Given the description of an element on the screen output the (x, y) to click on. 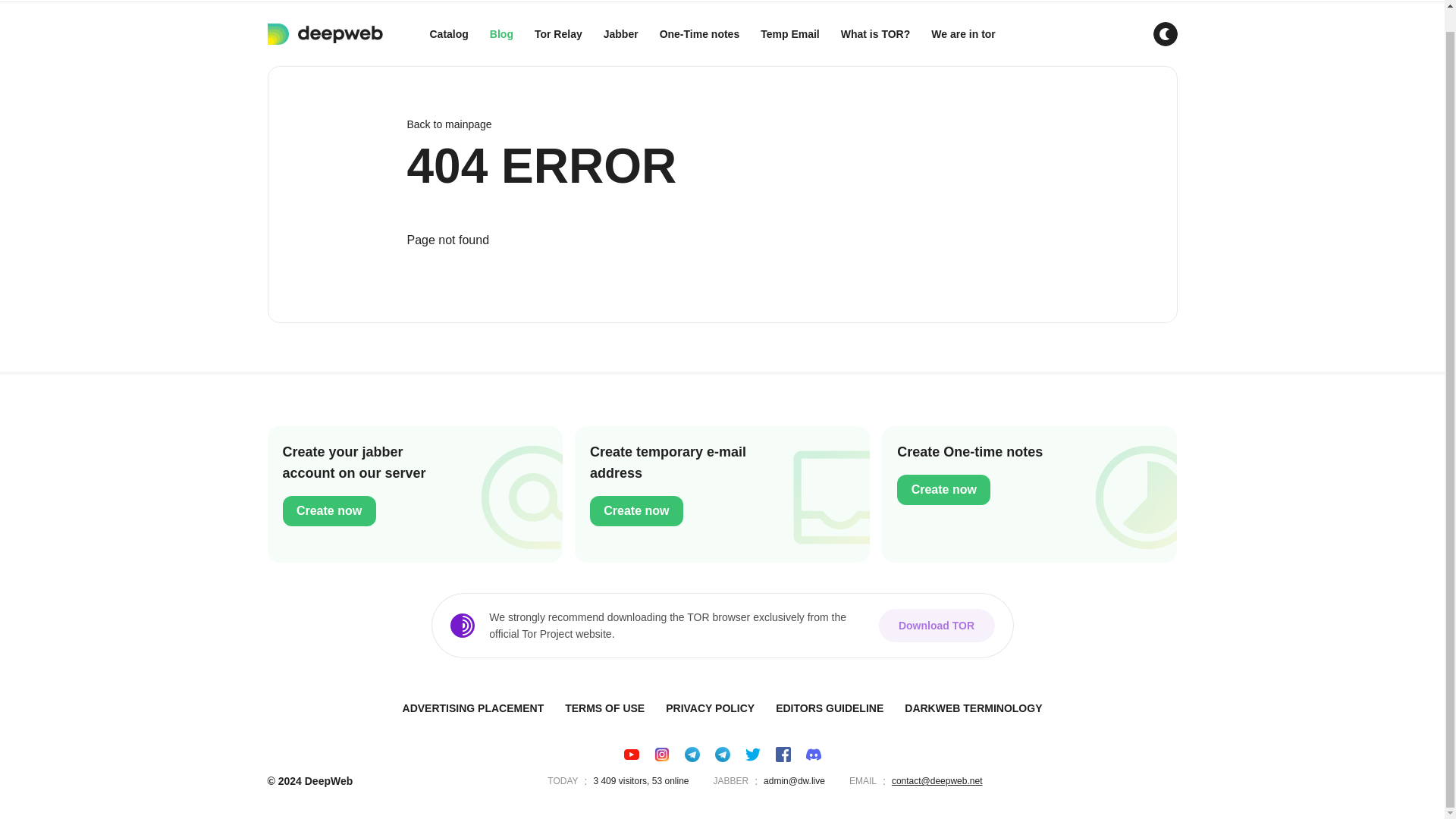
Discord (813, 754)
Jabber (620, 34)
Temp Email (789, 34)
PocketDarkBot (691, 754)
Instagram (660, 754)
We are in tor (963, 34)
Tor Relay (558, 34)
Download TOR (935, 625)
DARKWEB TERMINOLOGY (972, 708)
Twitter (752, 754)
